Given the description of an element on the screen output the (x, y) to click on. 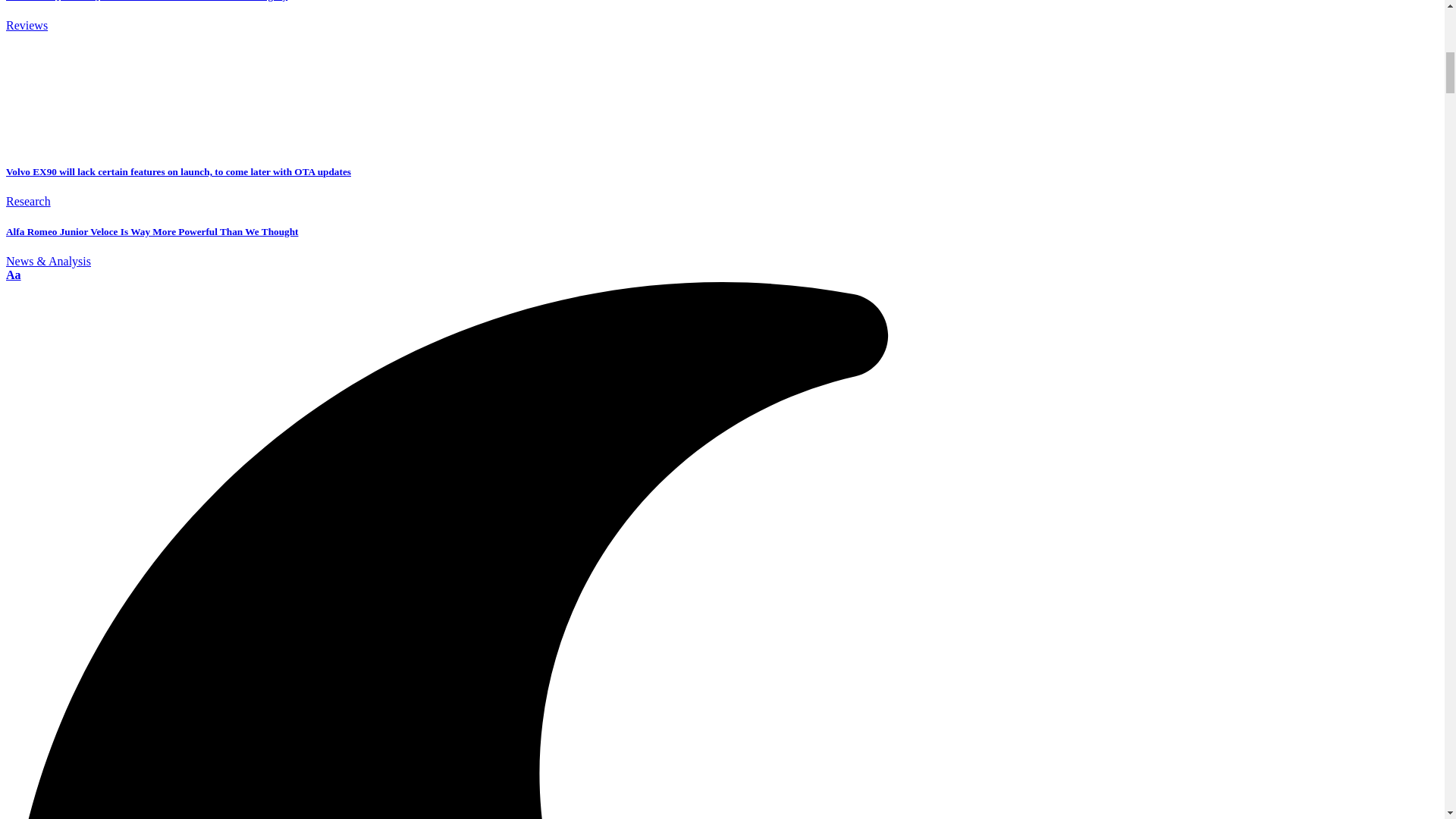
Aa (13, 274)
Research (27, 201)
Reviews (26, 24)
